Given the description of an element on the screen output the (x, y) to click on. 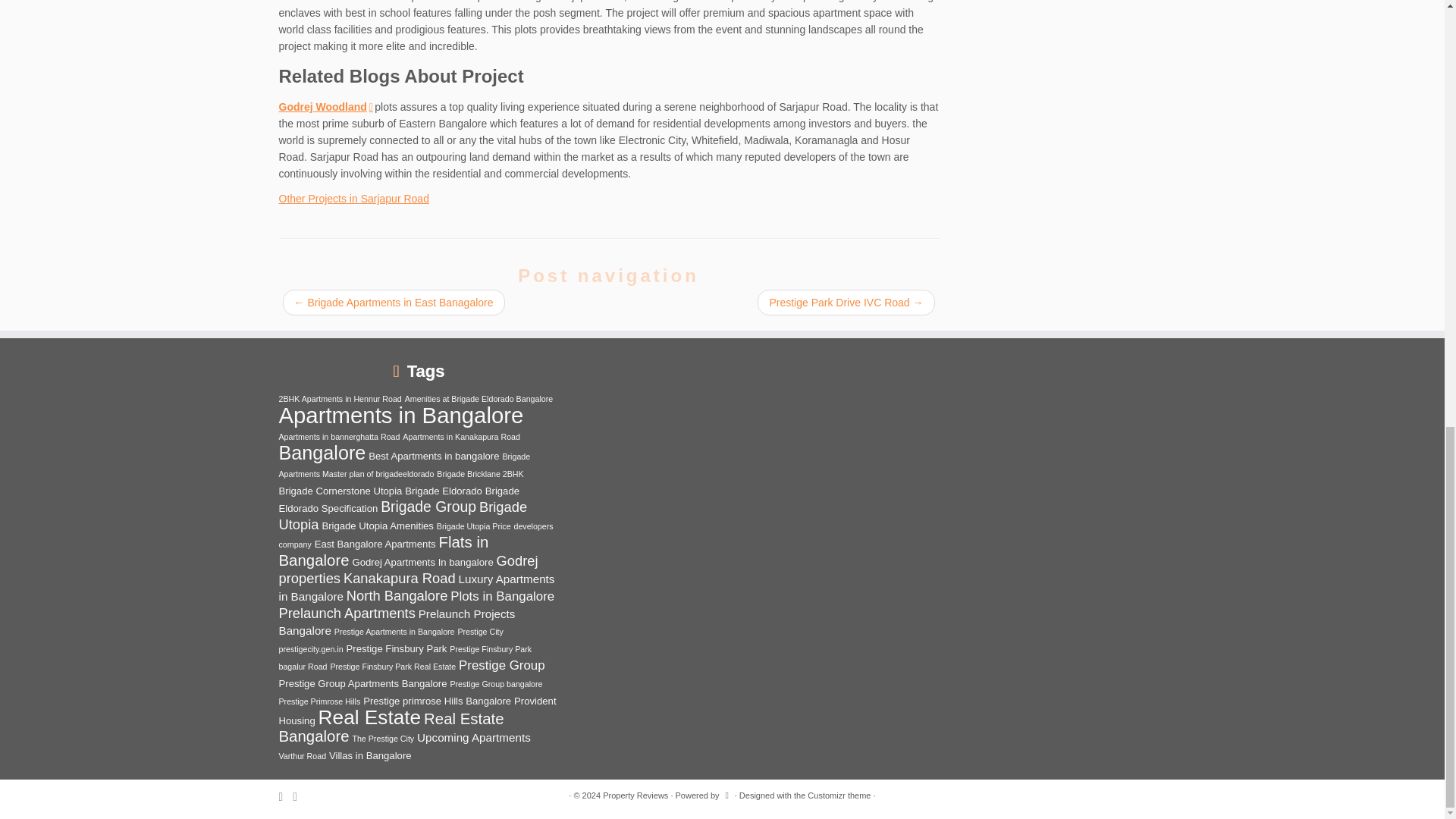
Amenities at Brigade Eldorado Bangalore (478, 398)
2BHK Apartments in Hennur Road (340, 398)
Subscribe to my rss feed (286, 796)
Apartments in Bangalore (401, 414)
Godrej Woodland (325, 106)
Other Projects in Sarjapur Road (354, 198)
